Given the description of an element on the screen output the (x, y) to click on. 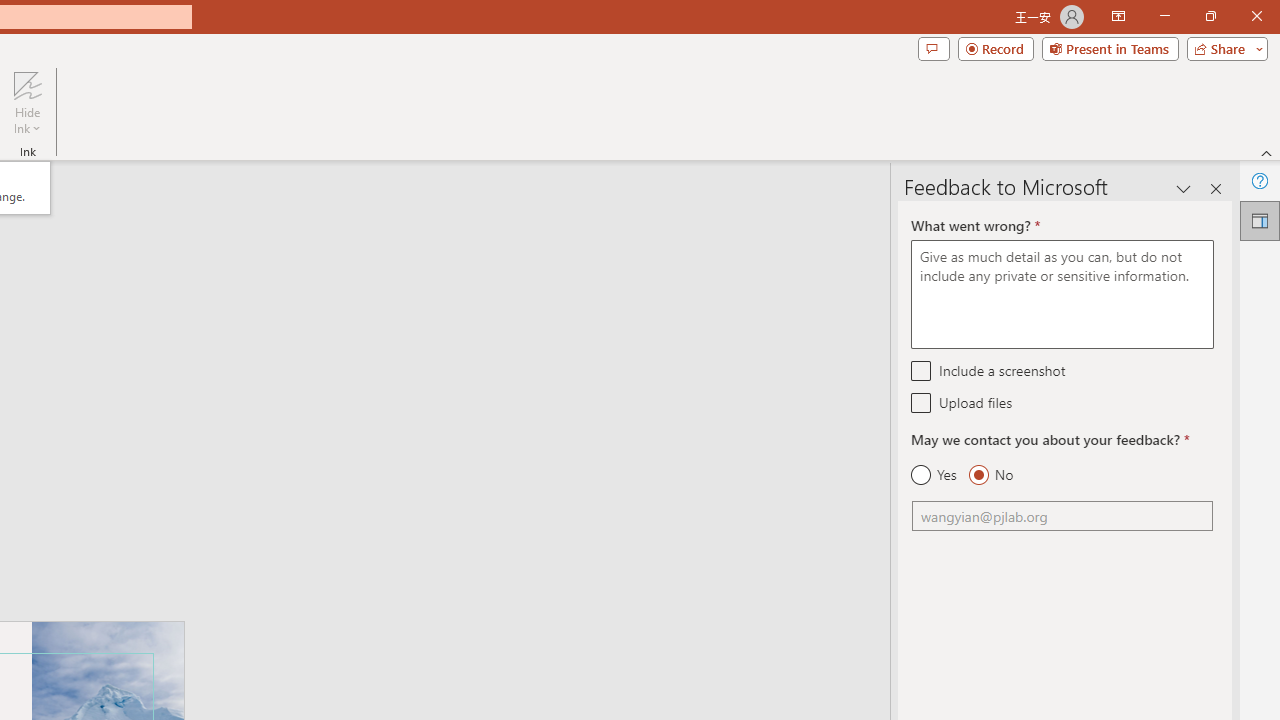
Upload files (921, 402)
Hide Ink (27, 84)
Feedback to Microsoft (1260, 220)
What went wrong? * (1062, 294)
Include a screenshot (921, 370)
Email (1062, 516)
Yes (934, 475)
No (990, 475)
